Given the description of an element on the screen output the (x, y) to click on. 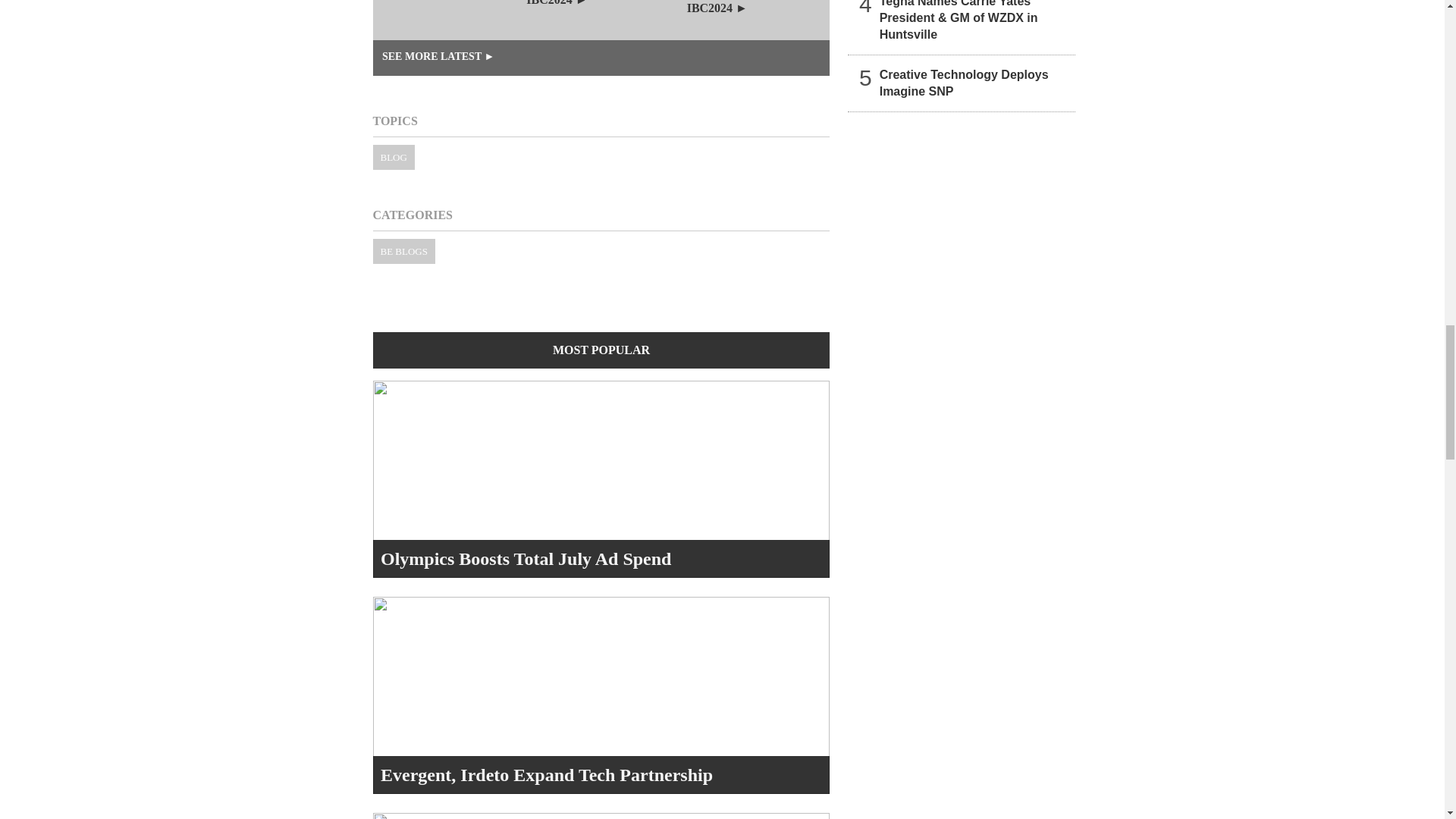
BLOG (393, 156)
Olympics Boosts Total July Ad Spend (525, 558)
BE BLOGS (403, 251)
Disney Stations and Channels Blacked Out on DirecTV (448, 20)
